Given the description of an element on the screen output the (x, y) to click on. 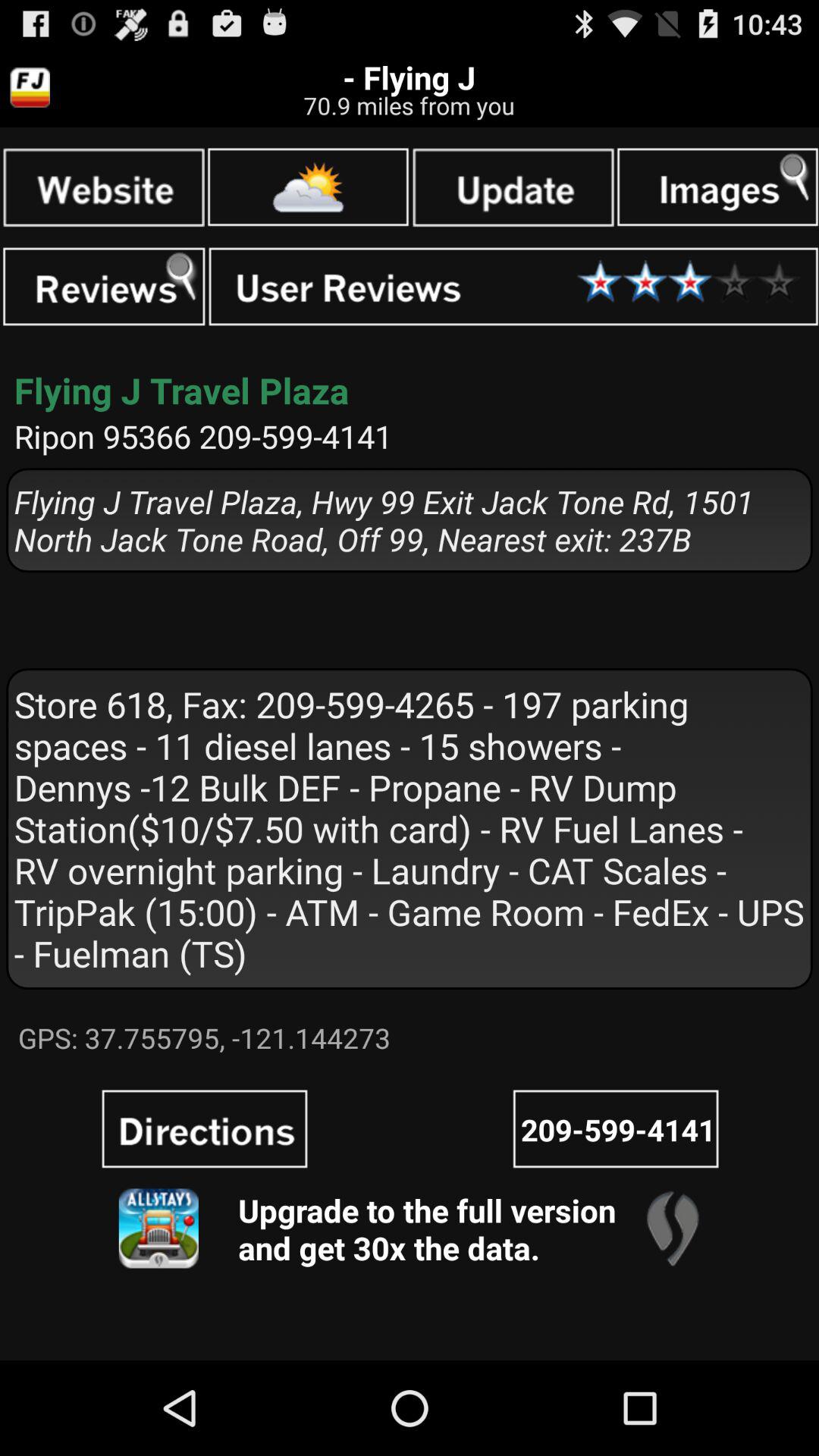
weather (308, 186)
